Given the description of an element on the screen output the (x, y) to click on. 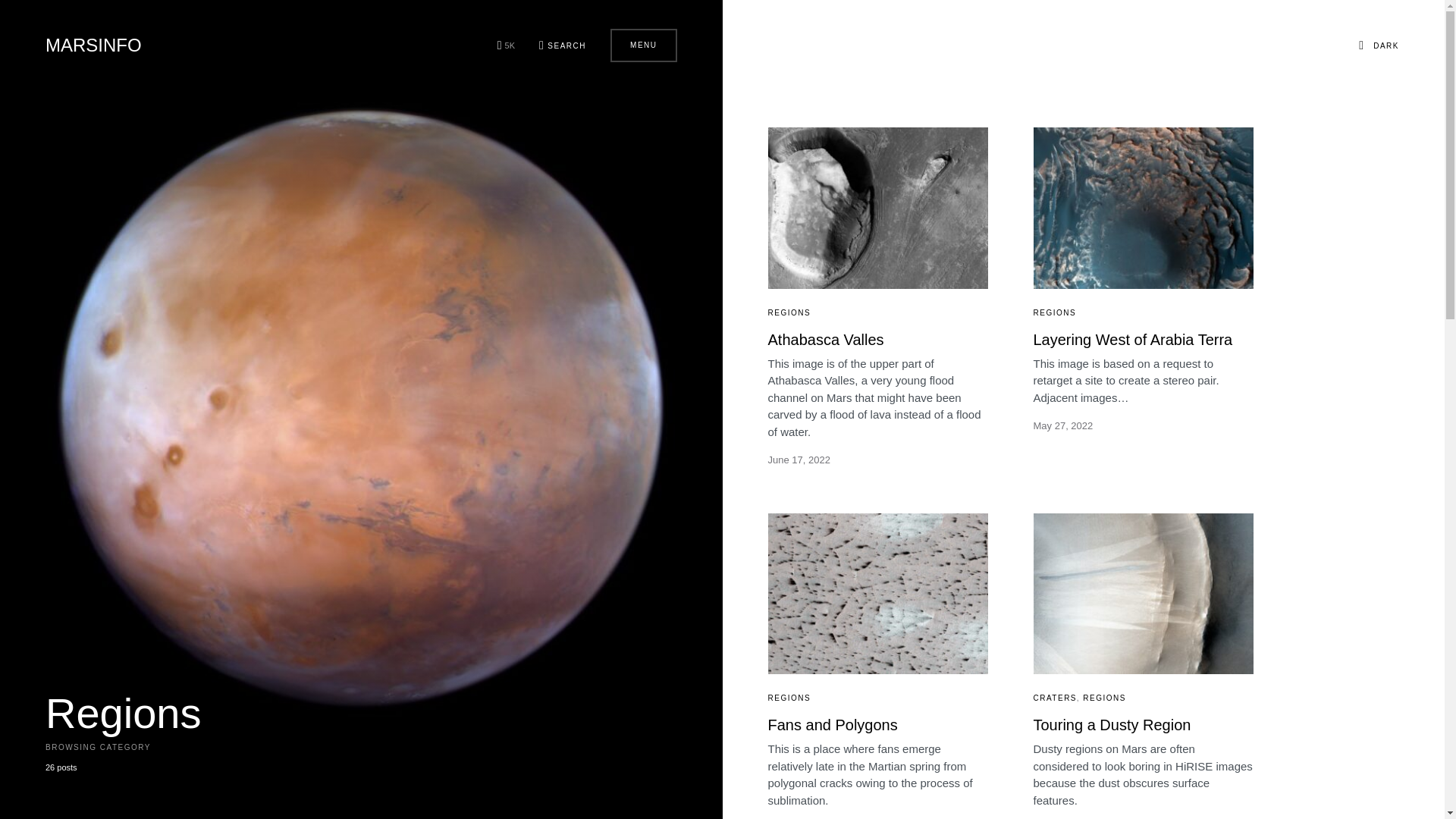
Touring a Dusty Region (1111, 724)
REGIONS (1053, 312)
CRATERS (1054, 697)
5K (506, 45)
REGIONS (788, 697)
Layering West of Arabia Terra (1131, 339)
REGIONS (788, 312)
REGIONS (1104, 697)
Fans and Polygons (831, 724)
Athabasca Valles (825, 339)
